Given the description of an element on the screen output the (x, y) to click on. 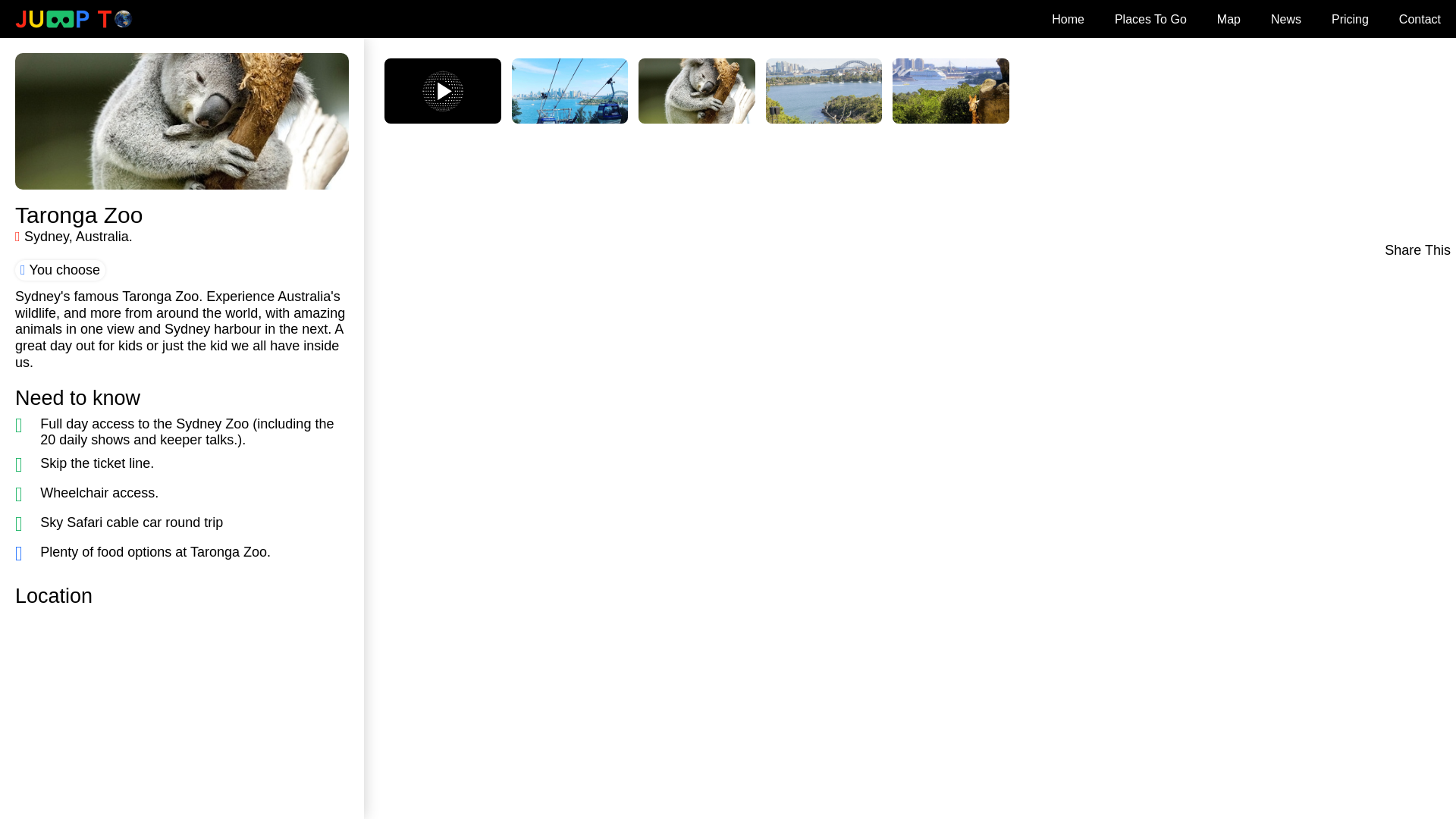
News (1285, 18)
Places To Go (1150, 18)
Pricing (1350, 18)
Map (1228, 18)
Home (1067, 18)
